Given the description of an element on the screen output the (x, y) to click on. 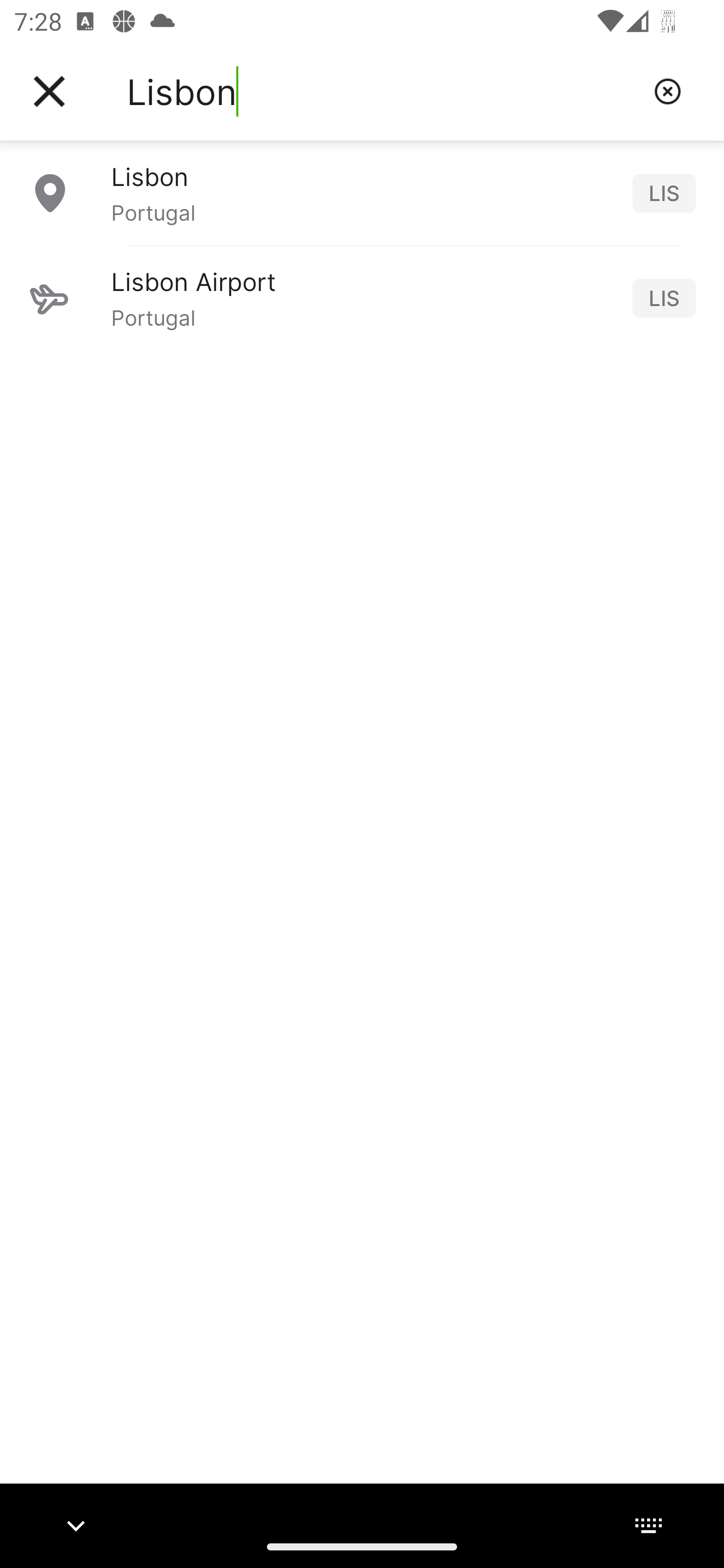
Lisbon (382, 91)
Lisbon Portugal LIS (362, 192)
Lisbon Airport Portugal LIS (362, 297)
